Given the description of an element on the screen output the (x, y) to click on. 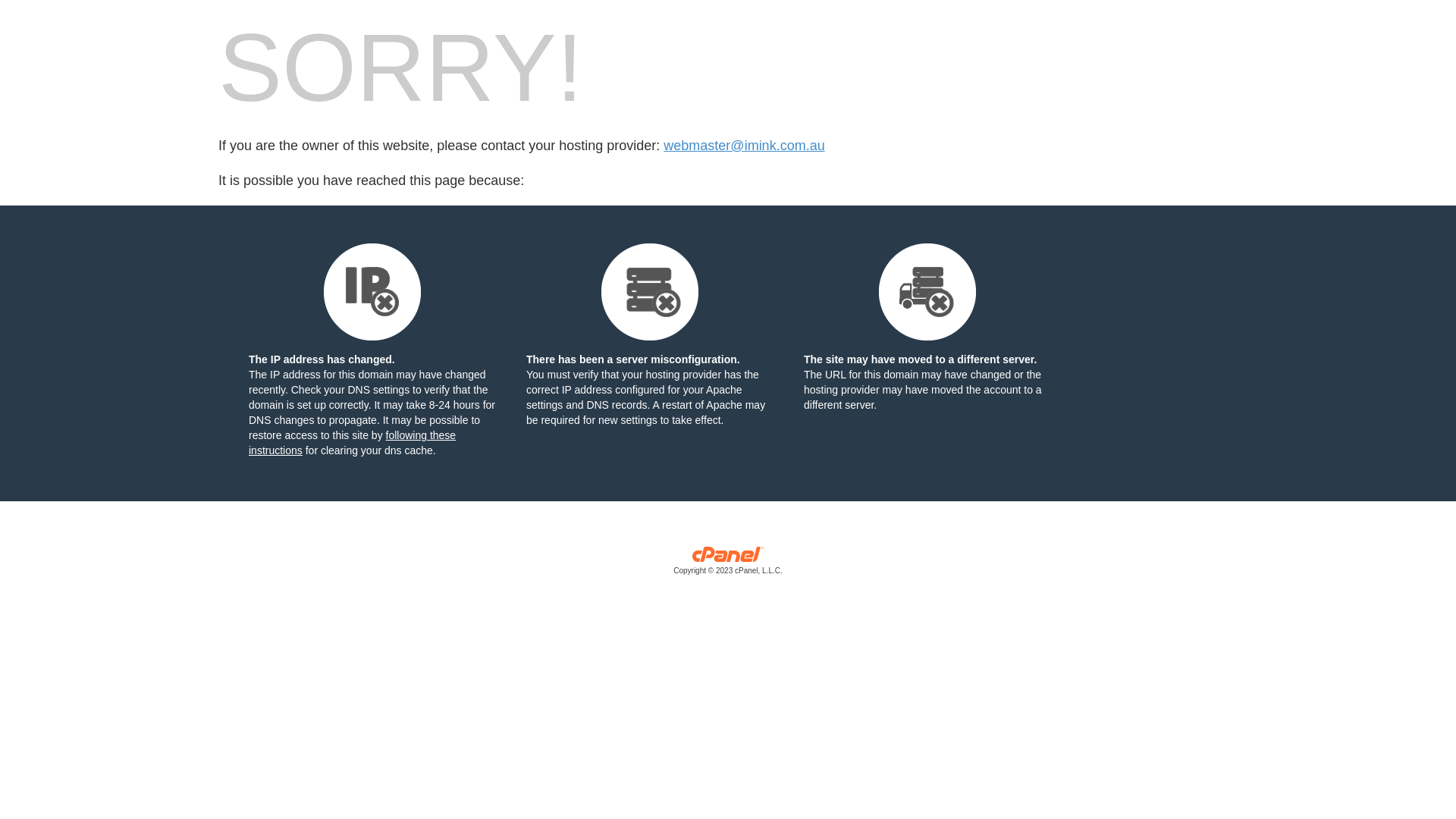
following these instructions Element type: text (351, 442)
webmaster@imink.com.au Element type: text (743, 145)
